Given the description of an element on the screen output the (x, y) to click on. 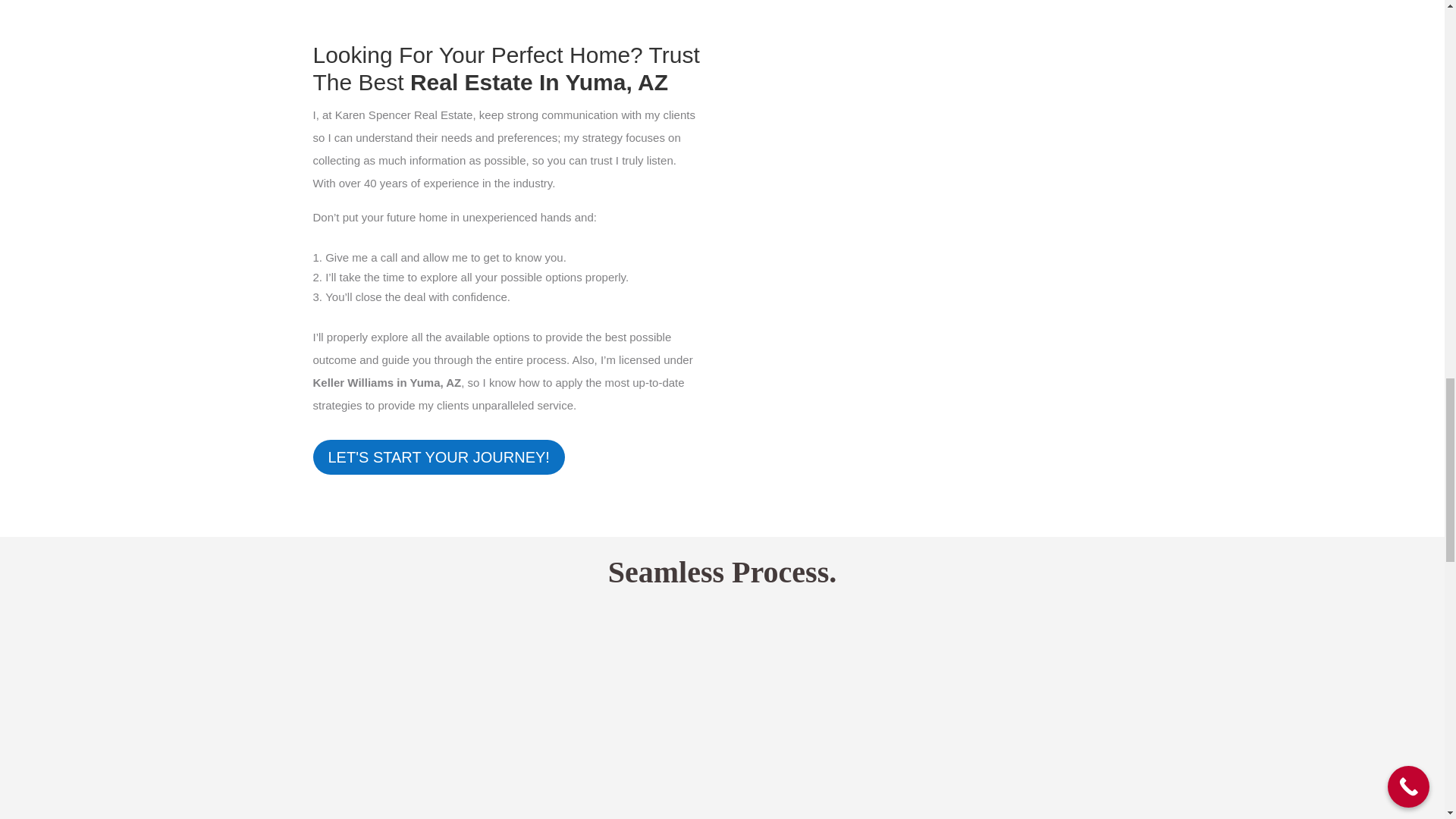
LET'S START YOUR JOURNEY! (438, 457)
